Given the description of an element on the screen output the (x, y) to click on. 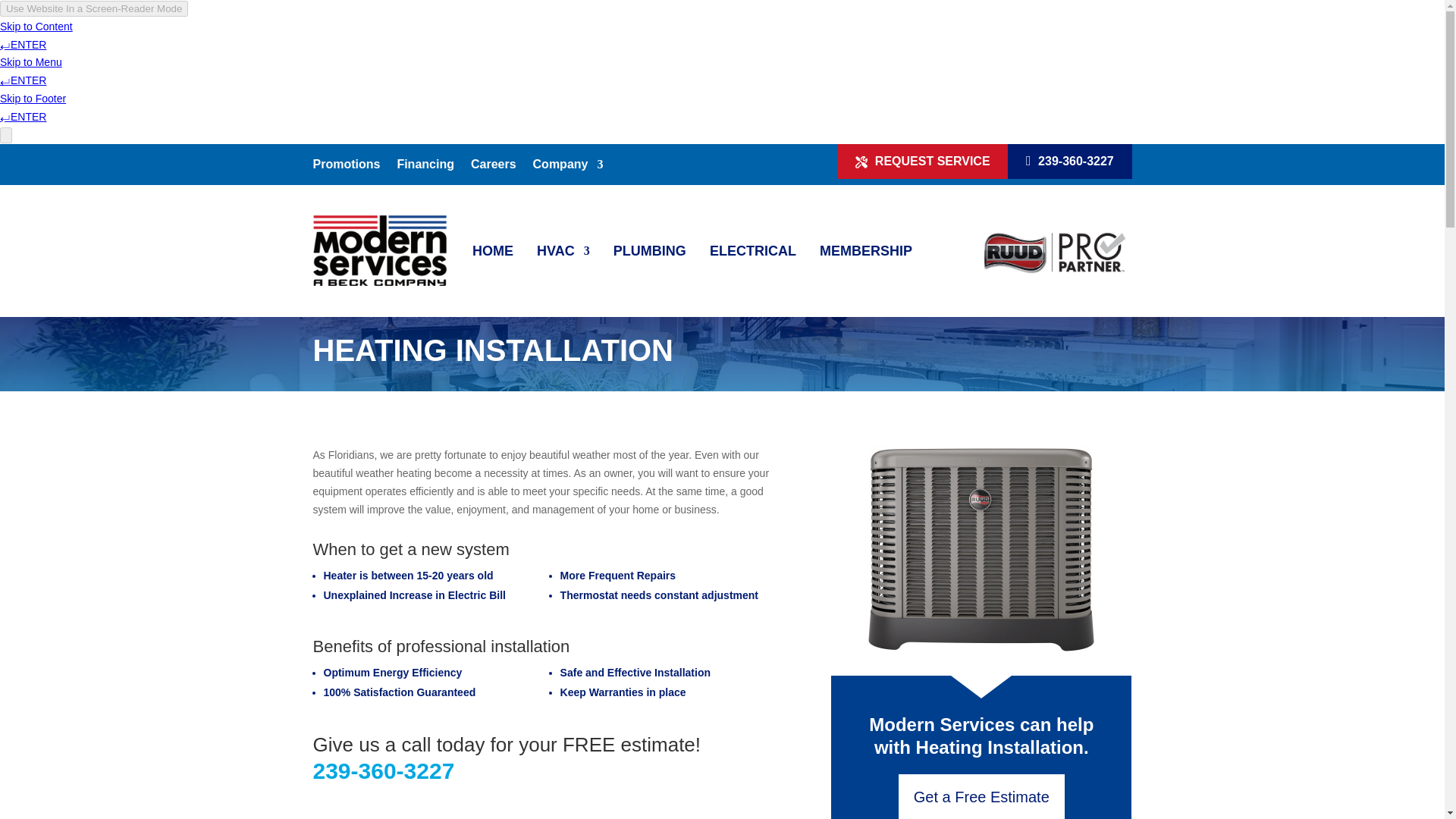
MEMBERSHIP (865, 250)
PLUMBING (648, 250)
239-360-3227 (1069, 161)
REQUEST SERVICE (923, 161)
Company (568, 167)
Financing (425, 167)
ELECTRICAL (753, 250)
Promotions (346, 167)
Careers (493, 167)
